Given the description of an element on the screen output the (x, y) to click on. 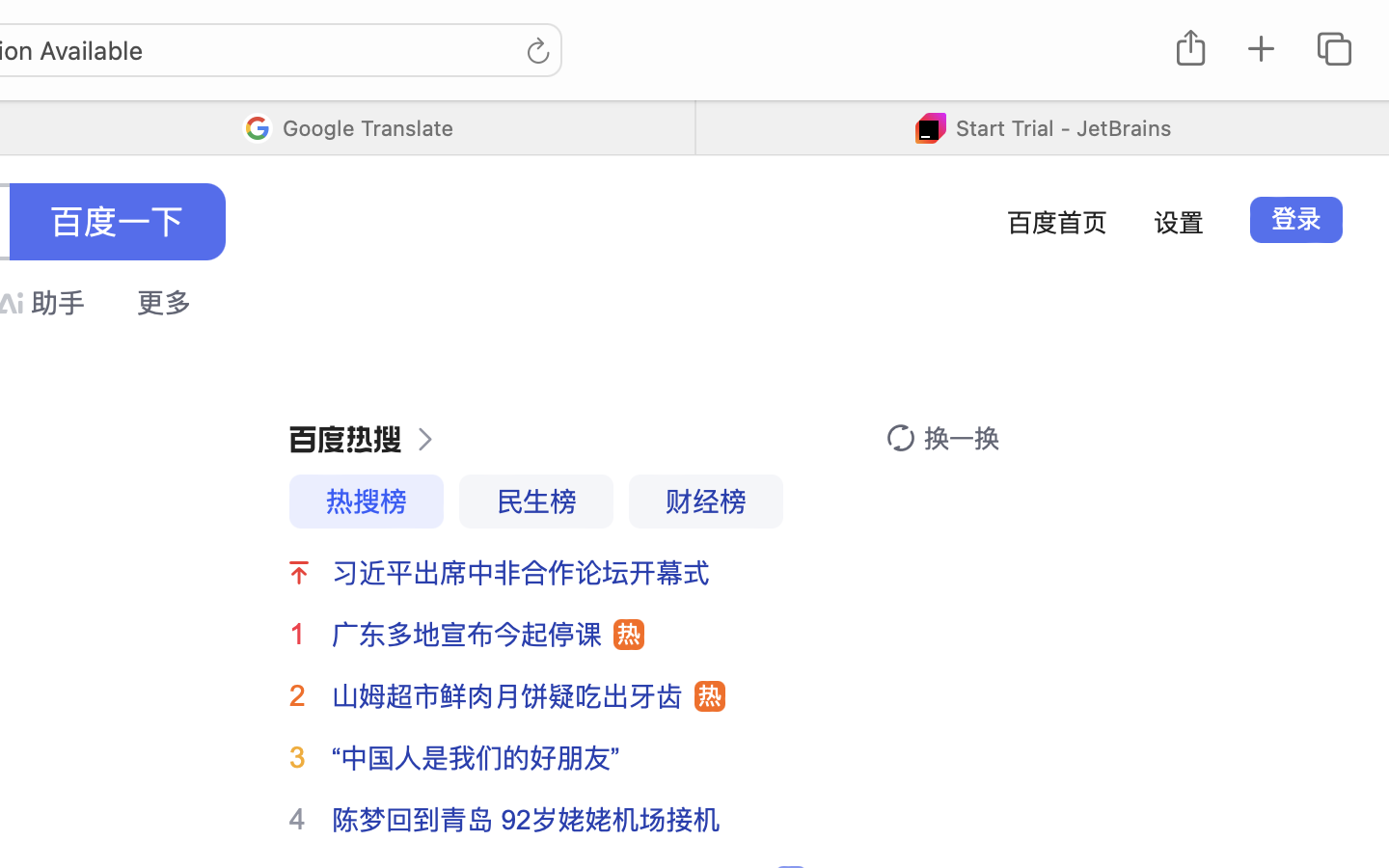
陈梦回到青岛 92岁姥姥机场接机 Element type: AXStaticText (526, 819)
3 Element type: AXStaticText (296, 756)
助手 Element type: AXStaticText (57, 302)
 Element type: AXStaticText (900, 437)
设置 Element type: AXStaticText (1178, 222)
